Given the description of an element on the screen output the (x, y) to click on. 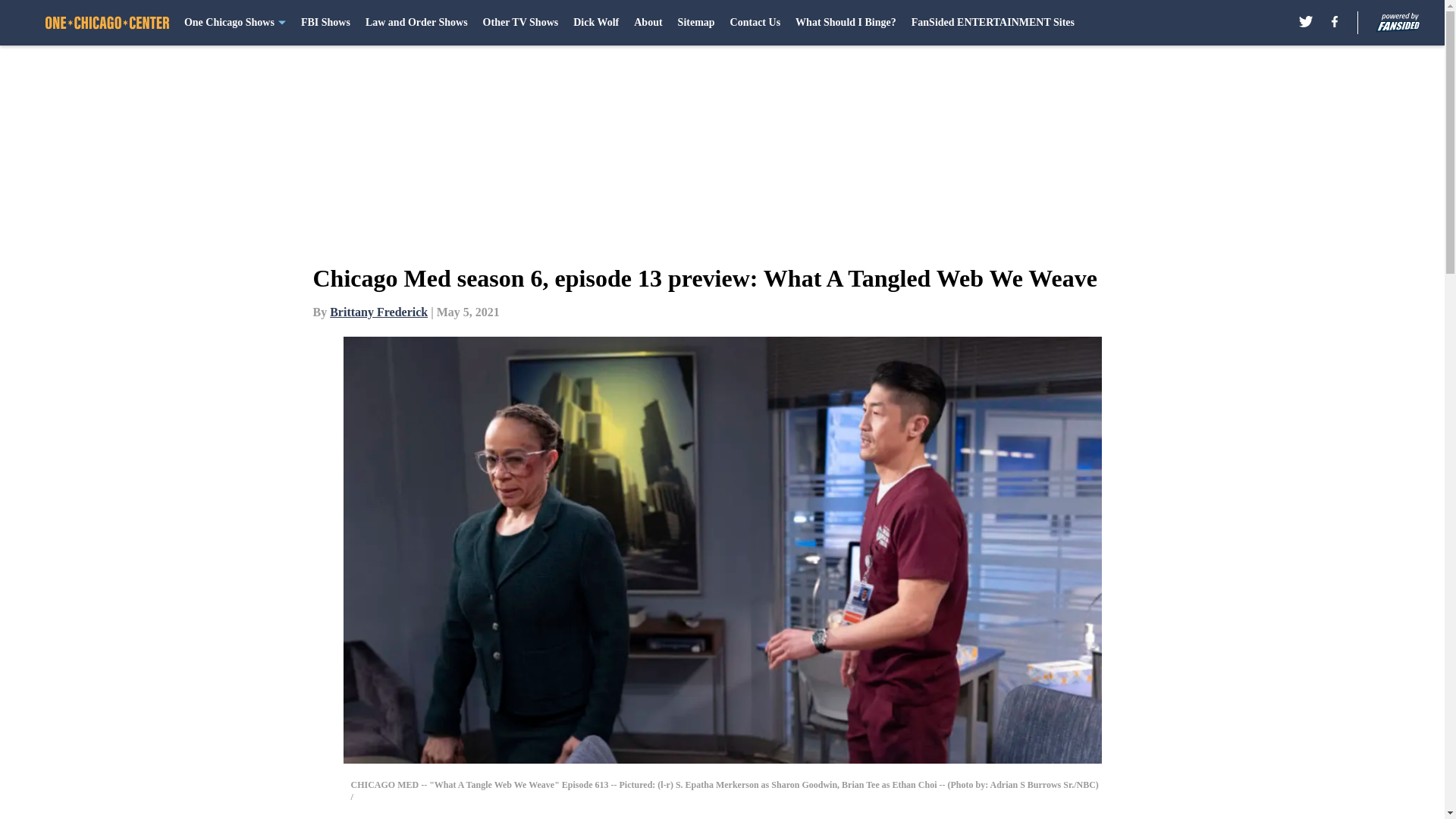
Contact Us (755, 22)
Law and Order Shows (416, 22)
About (647, 22)
Other TV Shows (521, 22)
What Should I Binge? (845, 22)
Dick Wolf (595, 22)
Sitemap (696, 22)
Brittany Frederick (379, 311)
FBI Shows (325, 22)
FanSided ENTERTAINMENT Sites (992, 22)
